Given the description of an element on the screen output the (x, y) to click on. 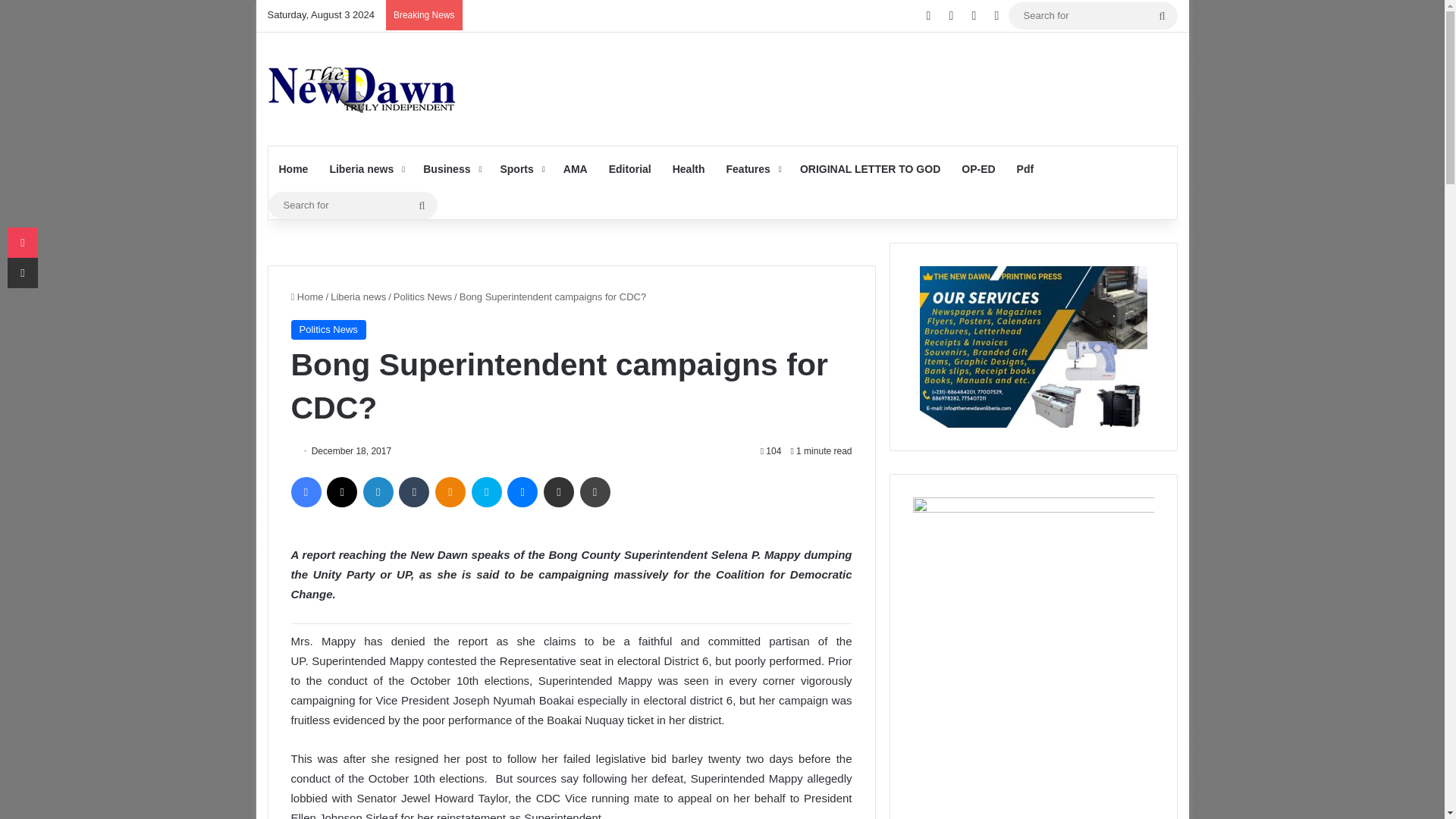
Print (594, 491)
Sports (520, 168)
Business (450, 168)
Search for (1161, 15)
X (341, 491)
Messenger (521, 491)
Home (292, 168)
Share via Email (558, 491)
Odnoklassniki (450, 491)
Search for (352, 204)
Skype (486, 491)
Search for (1093, 15)
Liberia news (365, 168)
Facebook (306, 491)
Tumblr (413, 491)
